Given the description of an element on the screen output the (x, y) to click on. 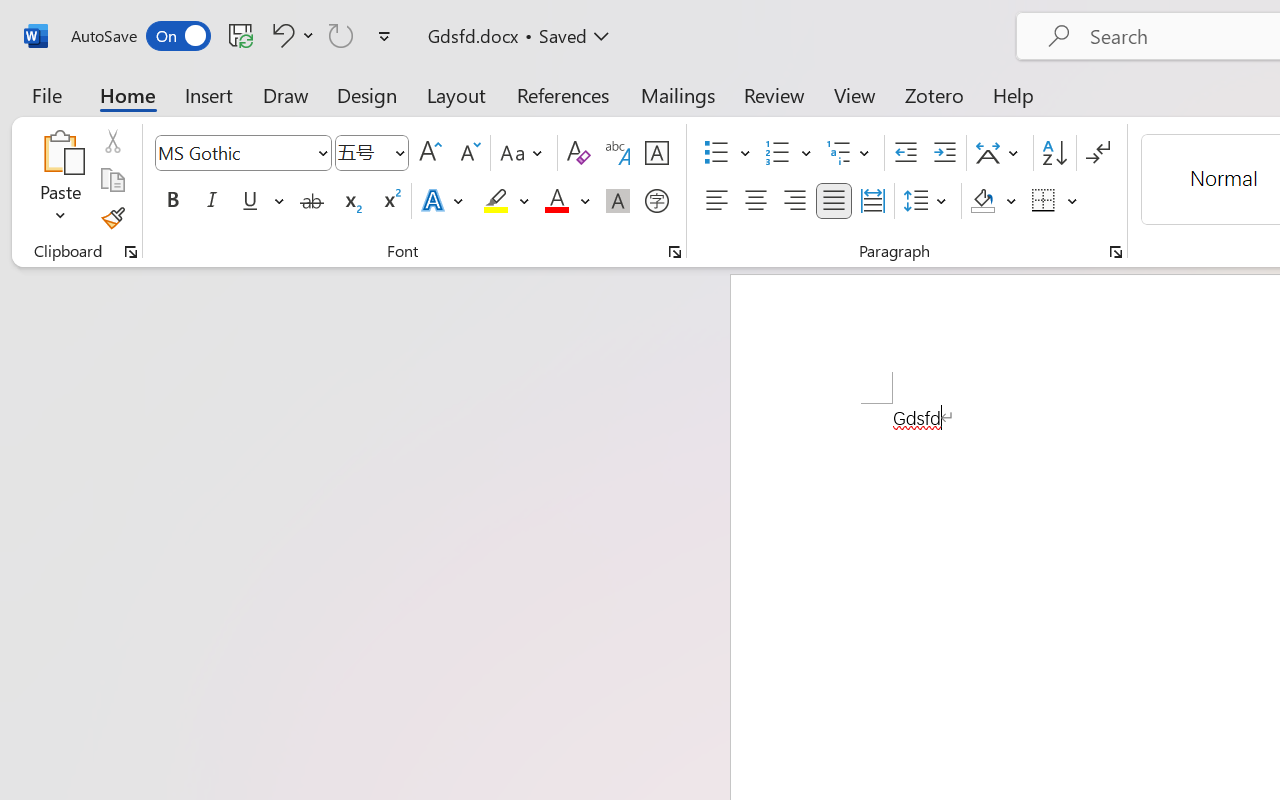
Shading RGB(0, 0, 0) (982, 201)
Font Color Red (556, 201)
